Given the description of an element on the screen output the (x, y) to click on. 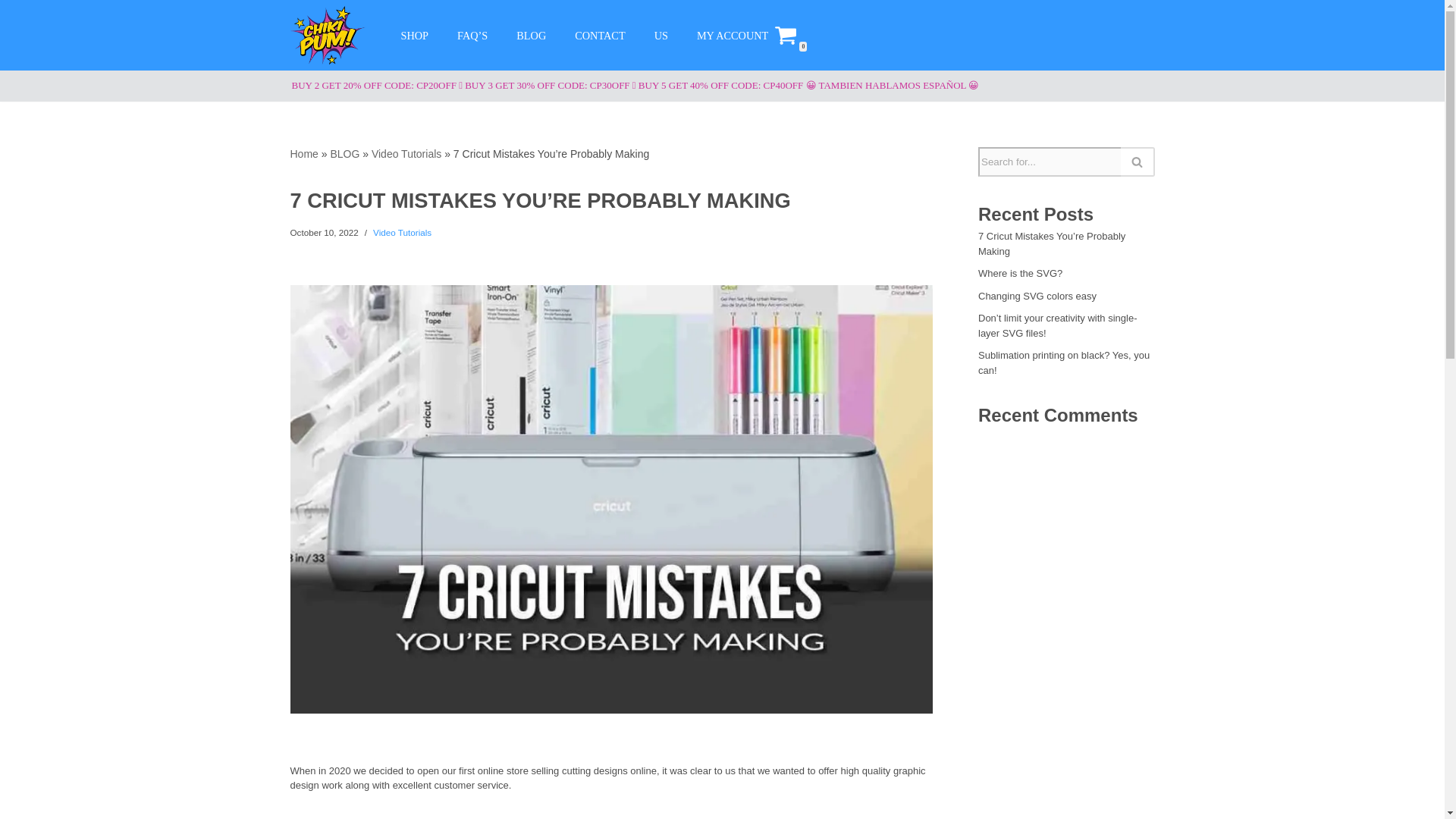
Video Tutorials (406, 153)
SHOP (414, 35)
Skip to content (11, 31)
0 (785, 34)
CONTACT (599, 35)
BLOG (531, 35)
Home (303, 153)
BLOG (344, 153)
MY ACCOUNT (732, 35)
Video Tutorials (401, 232)
